Given the description of an element on the screen output the (x, y) to click on. 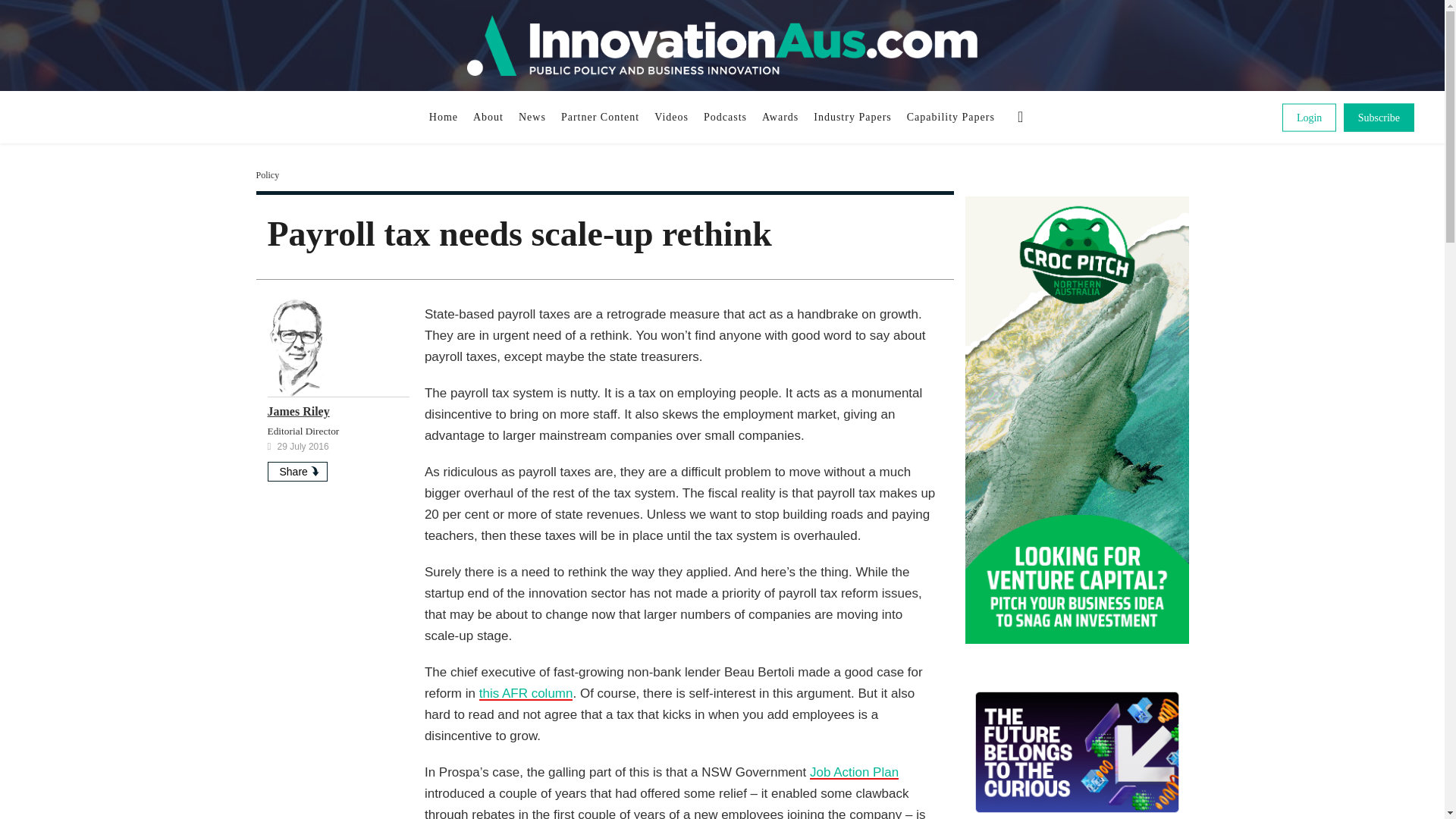
Login (1309, 117)
Industry Papers (852, 116)
Subscribe (1378, 117)
James Riley (297, 410)
About (488, 116)
News (532, 116)
Awards (780, 116)
Podcasts (724, 116)
policy (267, 174)
Partner Content (599, 116)
Home (443, 116)
Videos (670, 116)
Share (296, 471)
Capability Papers (951, 116)
